Given the description of an element on the screen output the (x, y) to click on. 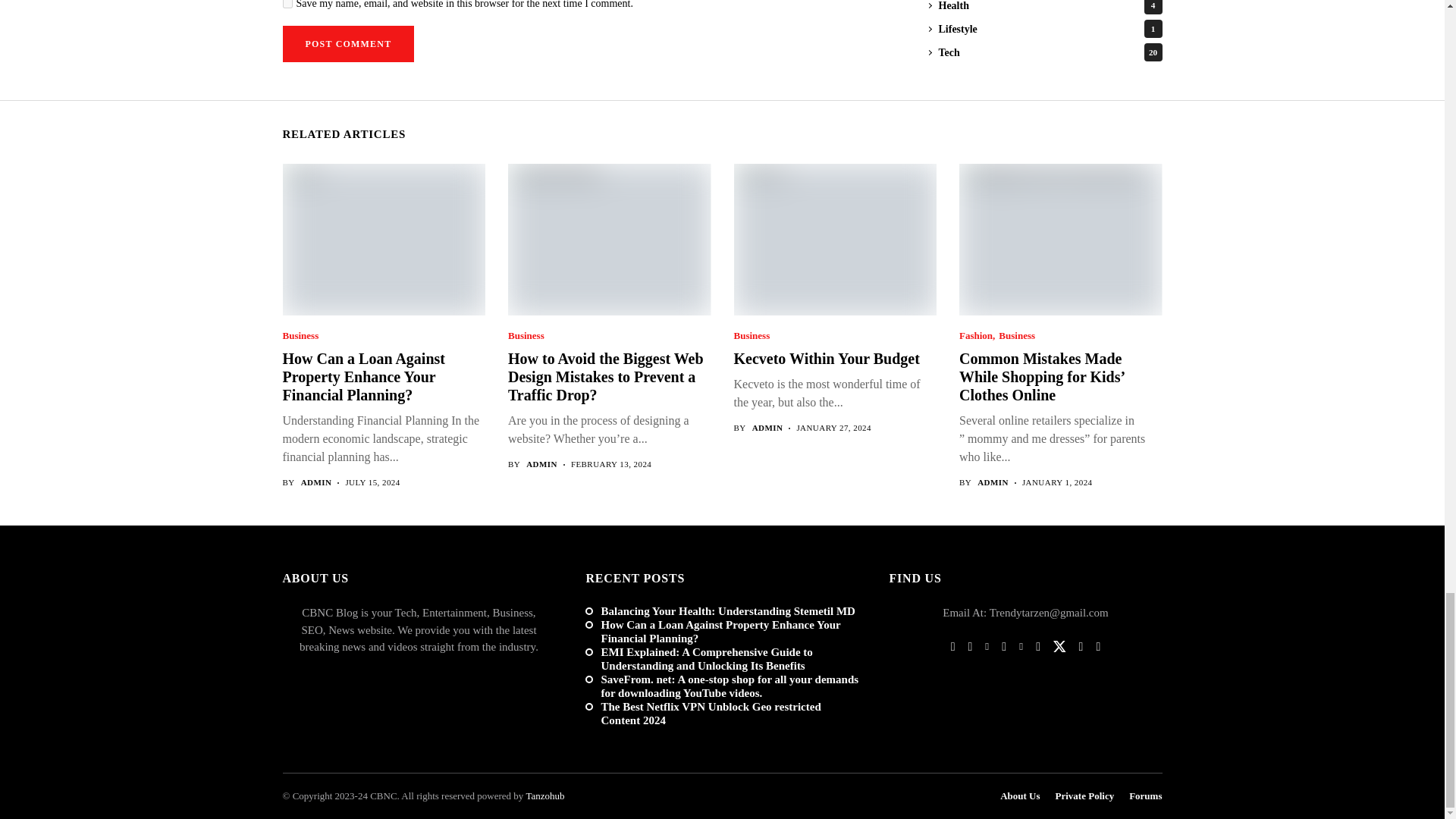
Posts by Admin (767, 428)
Post Comment (347, 43)
Posts by Admin (541, 464)
yes (287, 4)
Posts by Admin (316, 482)
Posts by Admin (992, 482)
